Given the description of an element on the screen output the (x, y) to click on. 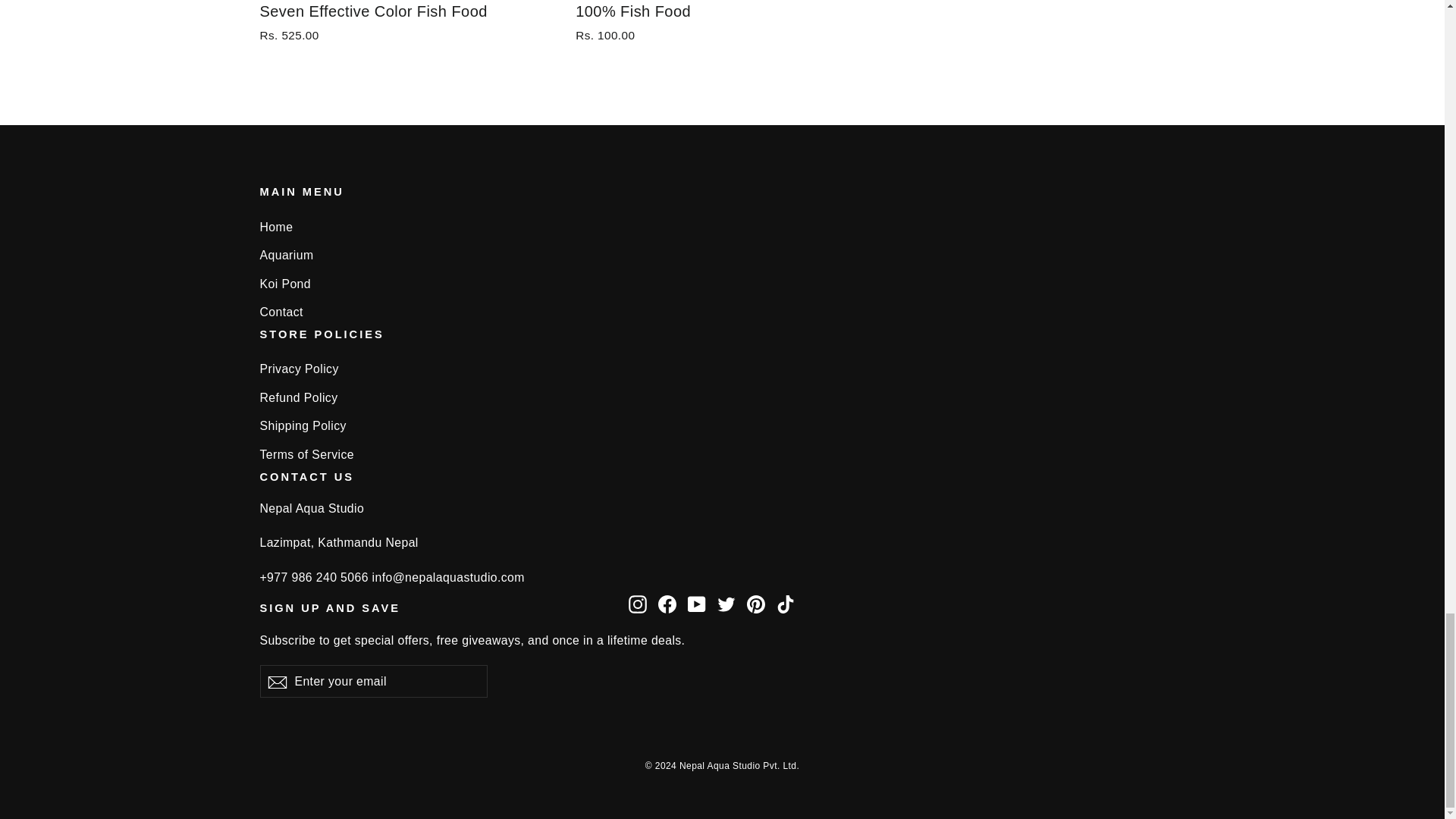
Nepal Aqua Studio  on Facebook (667, 603)
icon-email (276, 682)
Nepal Aqua Studio  on Instagram (637, 603)
Nepal Aqua Studio  on Pinterest (755, 603)
twitter (726, 604)
Nepal Aqua Studio  on Twitter (726, 603)
instagram (637, 604)
Nepal Aqua Studio  on TikTok (785, 603)
Nepal Aqua Studio  on YouTube (696, 603)
